Given the description of an element on the screen output the (x, y) to click on. 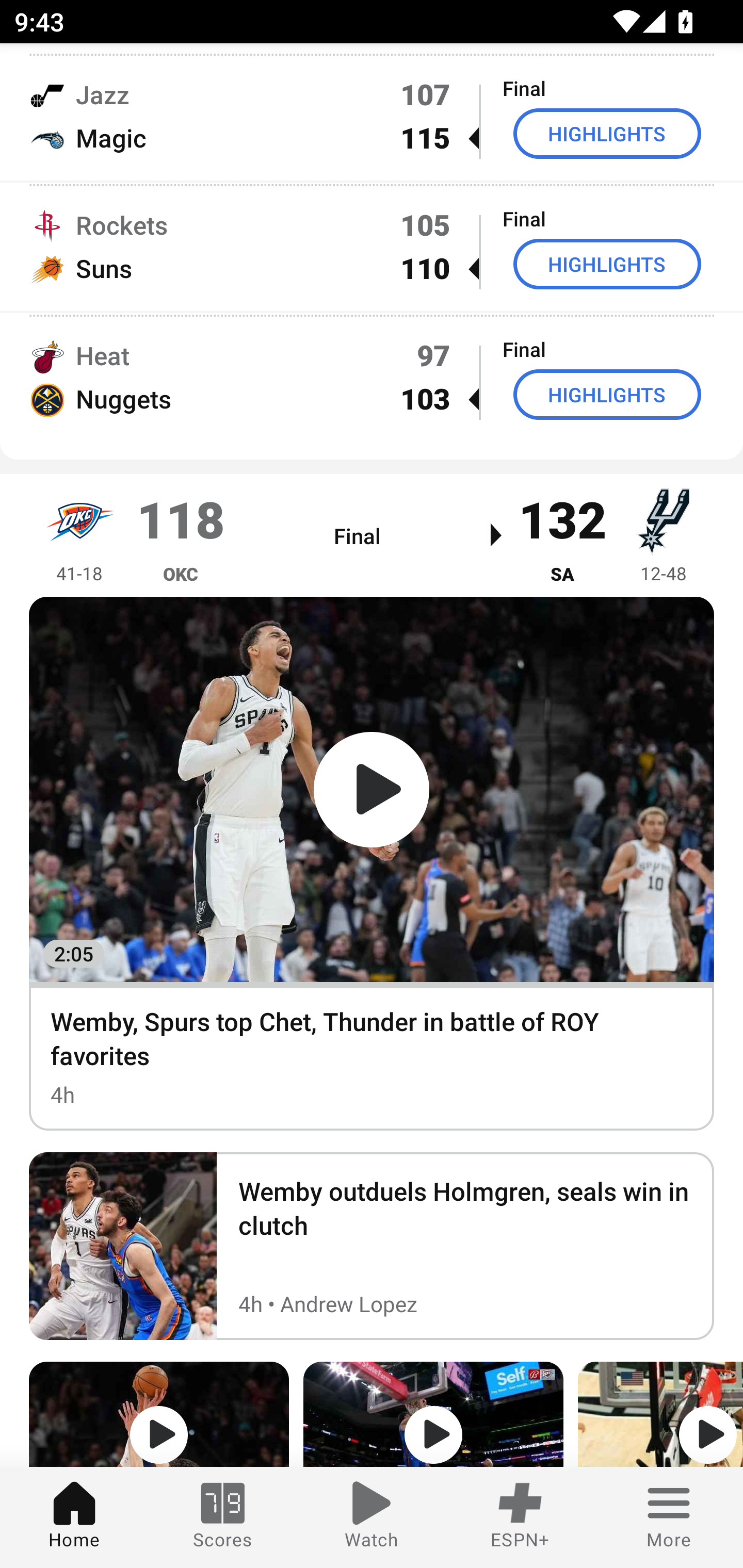
Jazz 107 Final Magic 115  HIGHLIGHTS (371, 115)
HIGHLIGHTS (607, 133)
Rockets 105 Final Suns 110  HIGHLIGHTS (371, 245)
HIGHLIGHTS (607, 264)
Heat 97 Final Nuggets 103  HIGHLIGHTS (371, 377)
HIGHLIGHTS (607, 395)
 (158, 1414)
 (433, 1414)
 (660, 1414)
Scores (222, 1517)
Watch (371, 1517)
ESPN+ (519, 1517)
More (668, 1517)
